Given the description of an element on the screen output the (x, y) to click on. 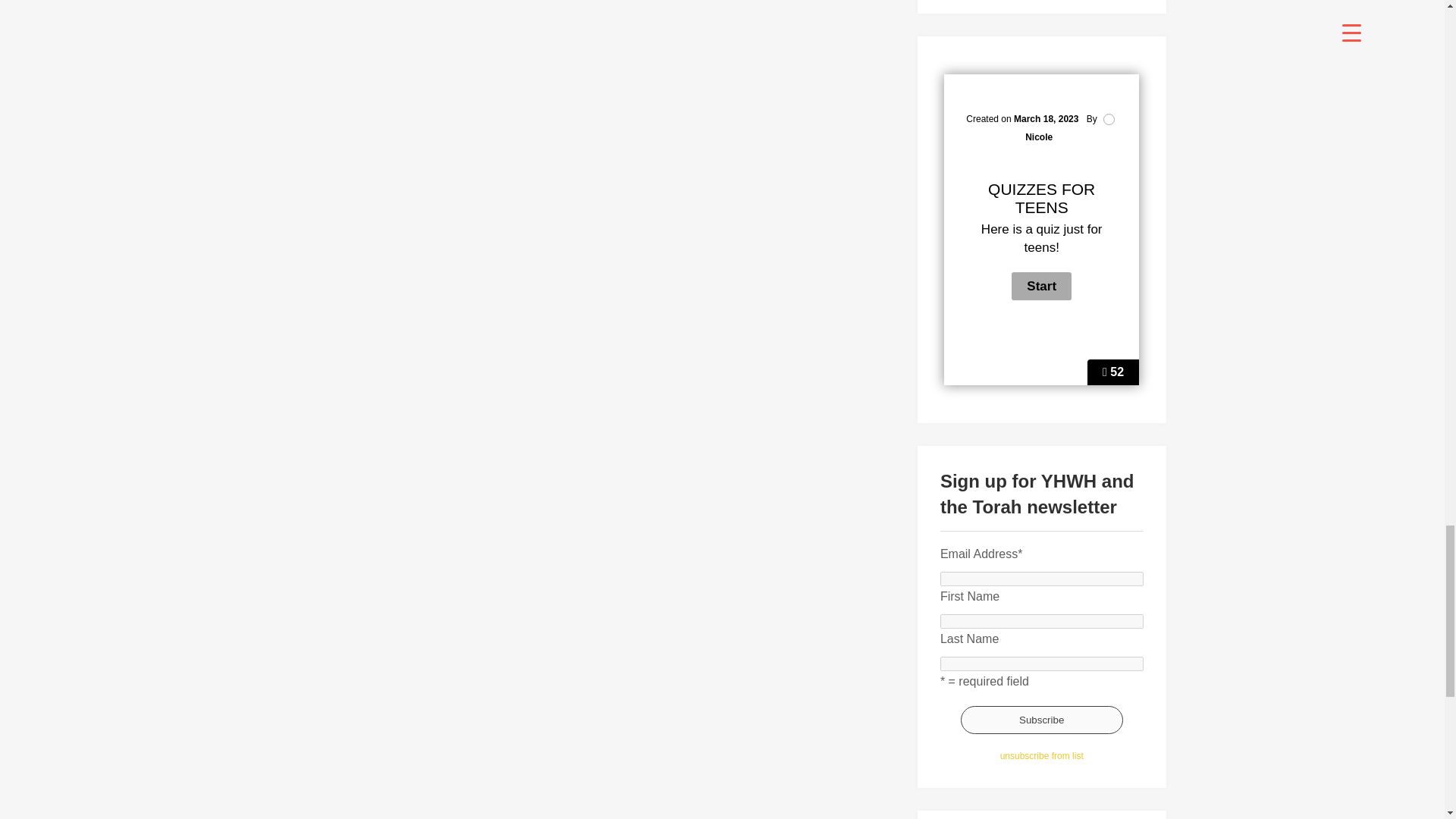
Subscribe (1041, 719)
Start (1041, 285)
